Given the description of an element on the screen output the (x, y) to click on. 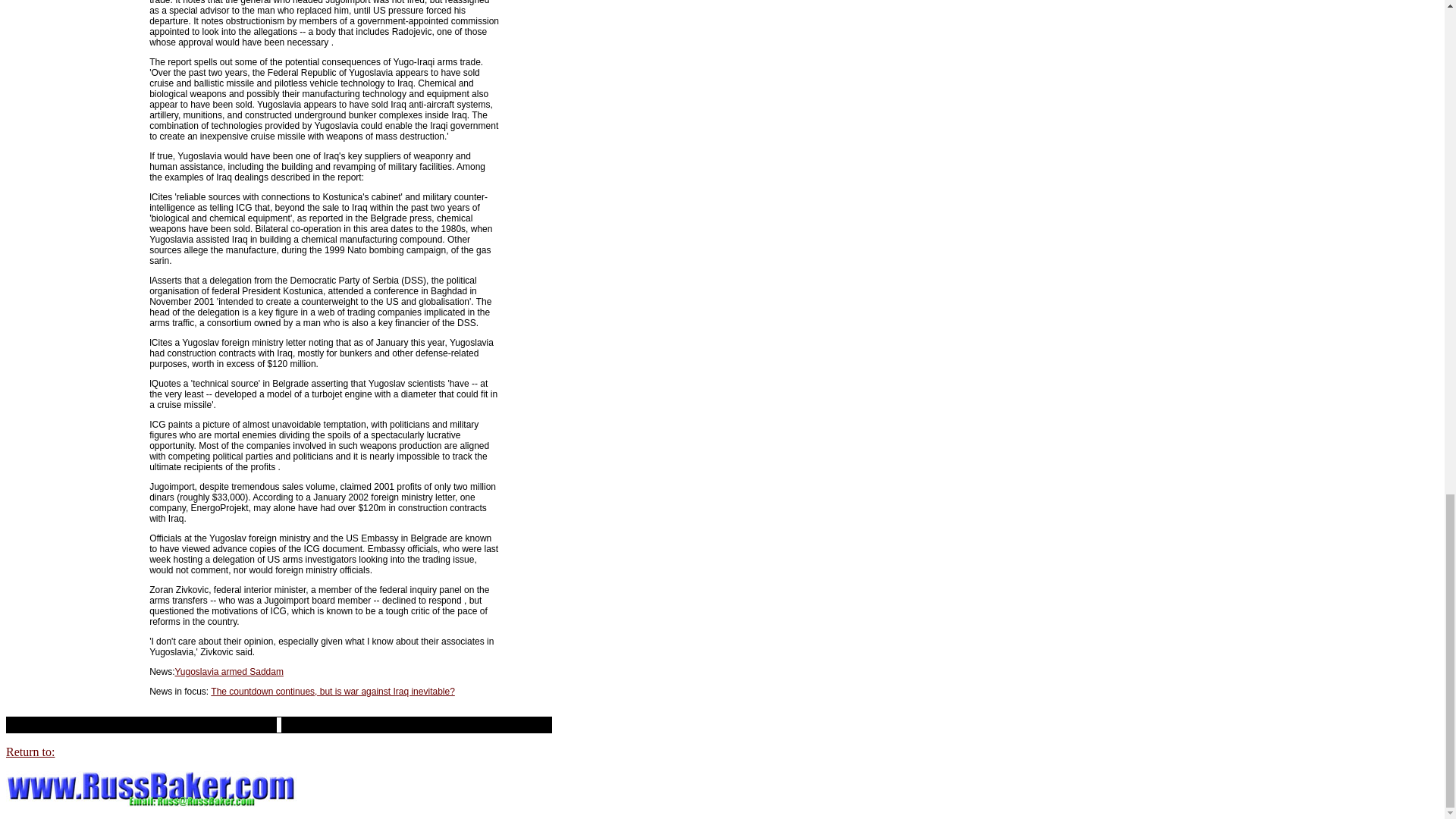
Return to: (30, 751)
Yugoslavia armed Saddam (228, 671)
The countdown continues, but is war against Iraq inevitable? (332, 691)
